Given the description of an element on the screen output the (x, y) to click on. 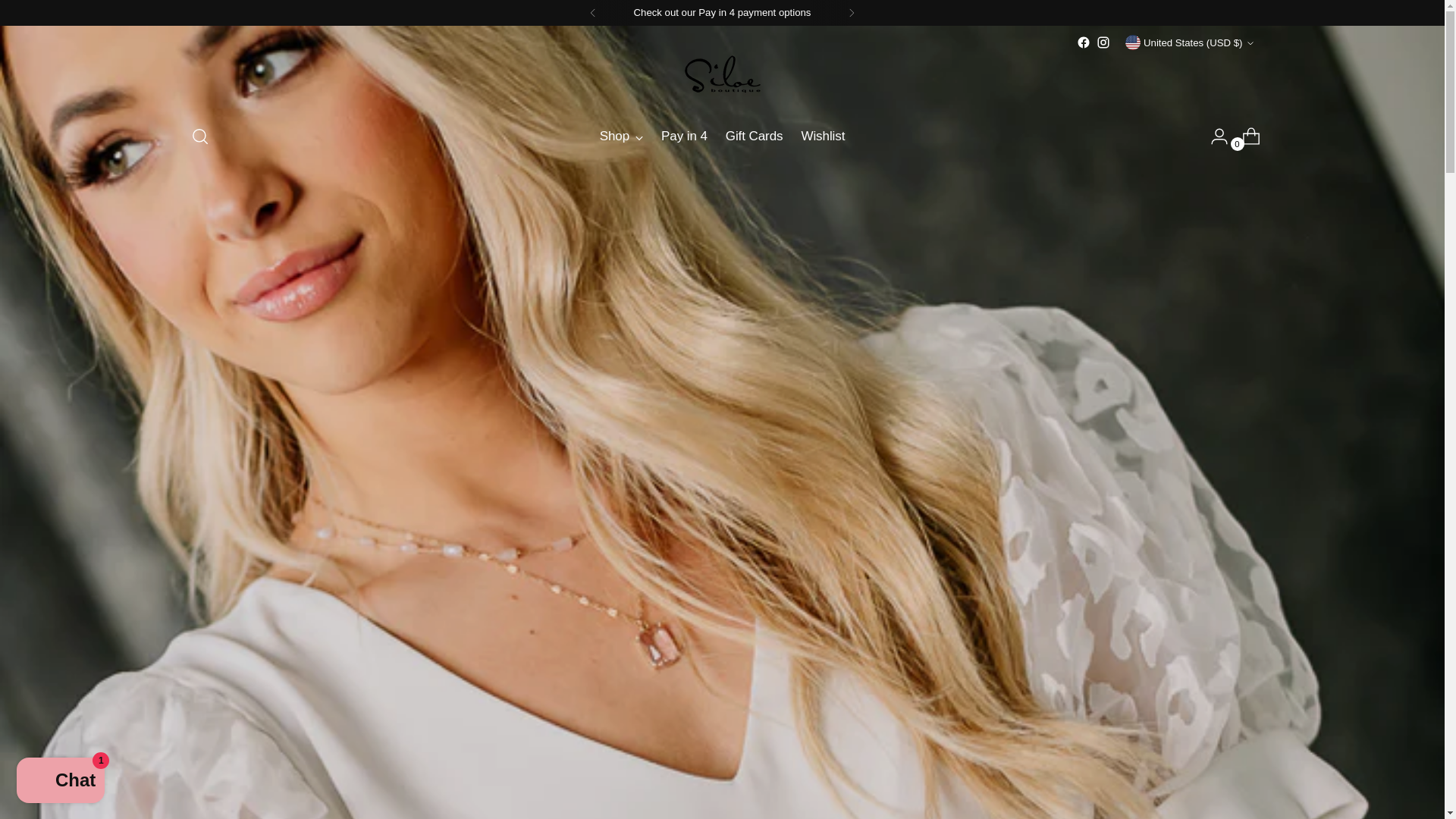
Next (850, 12)
Siloe on Instagram (1102, 42)
Previous (593, 12)
Shop (721, 136)
Siloe on Facebook (621, 136)
Check out our Pay in 4 payment options (1083, 42)
